Given the description of an element on the screen output the (x, y) to click on. 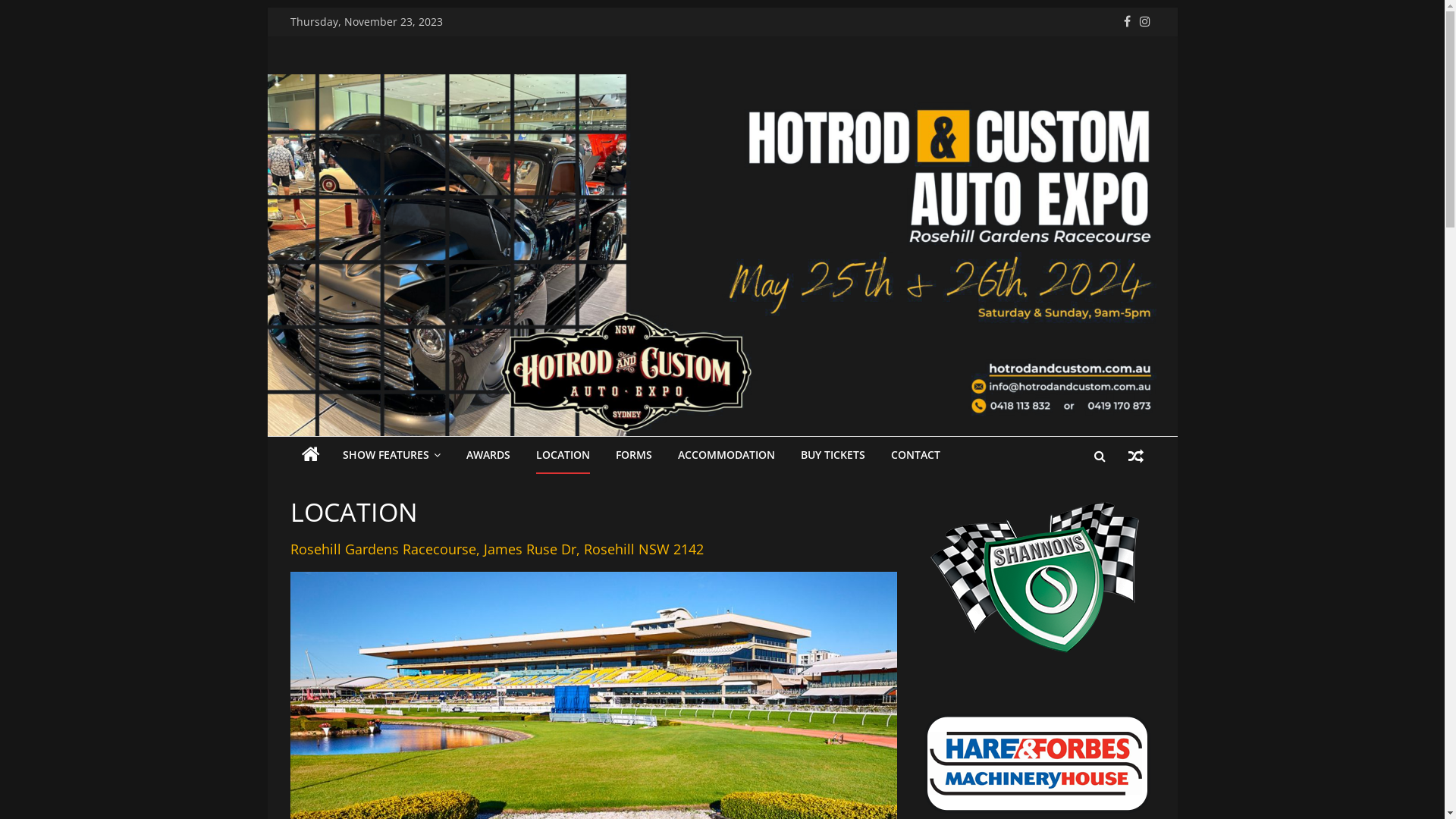
BUY TICKETS Element type: text (832, 455)
Hot Rod and Custom Auto Expo Element type: text (352, 183)
ACCOMMODATION Element type: text (726, 455)
CONTACT Element type: text (914, 455)
LOCATION Element type: text (562, 455)
Skip to content Element type: text (266, 6)
SHOW FEATURES Element type: text (391, 455)
AWARDS Element type: text (487, 455)
View a random post Element type: hover (1135, 455)
FORMS Element type: text (633, 455)
Hot Rod and Custom Auto Expo Element type: hover (309, 455)
